Given the description of an element on the screen output the (x, y) to click on. 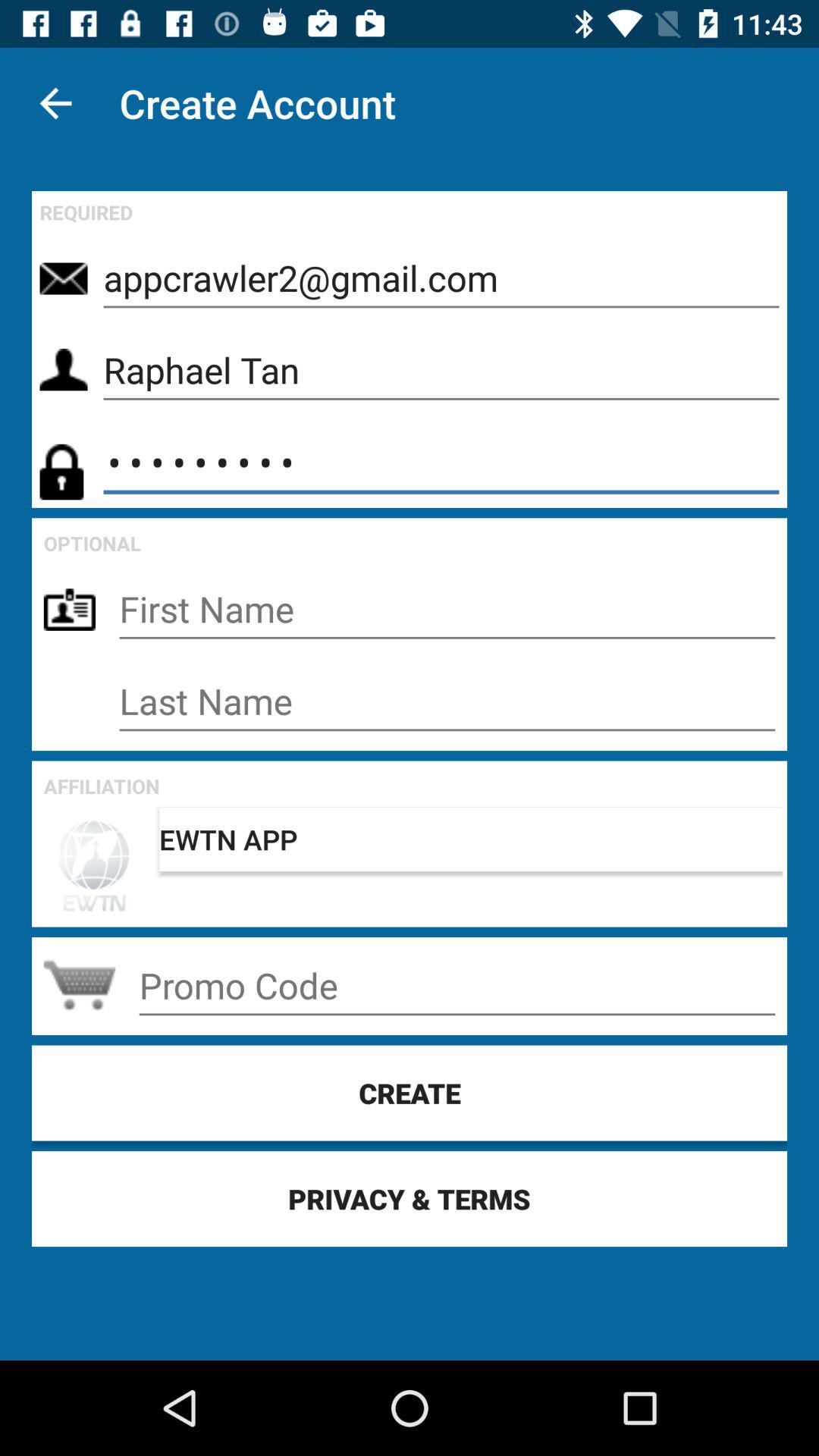
press icon below the create (409, 1198)
